Given the description of an element on the screen output the (x, y) to click on. 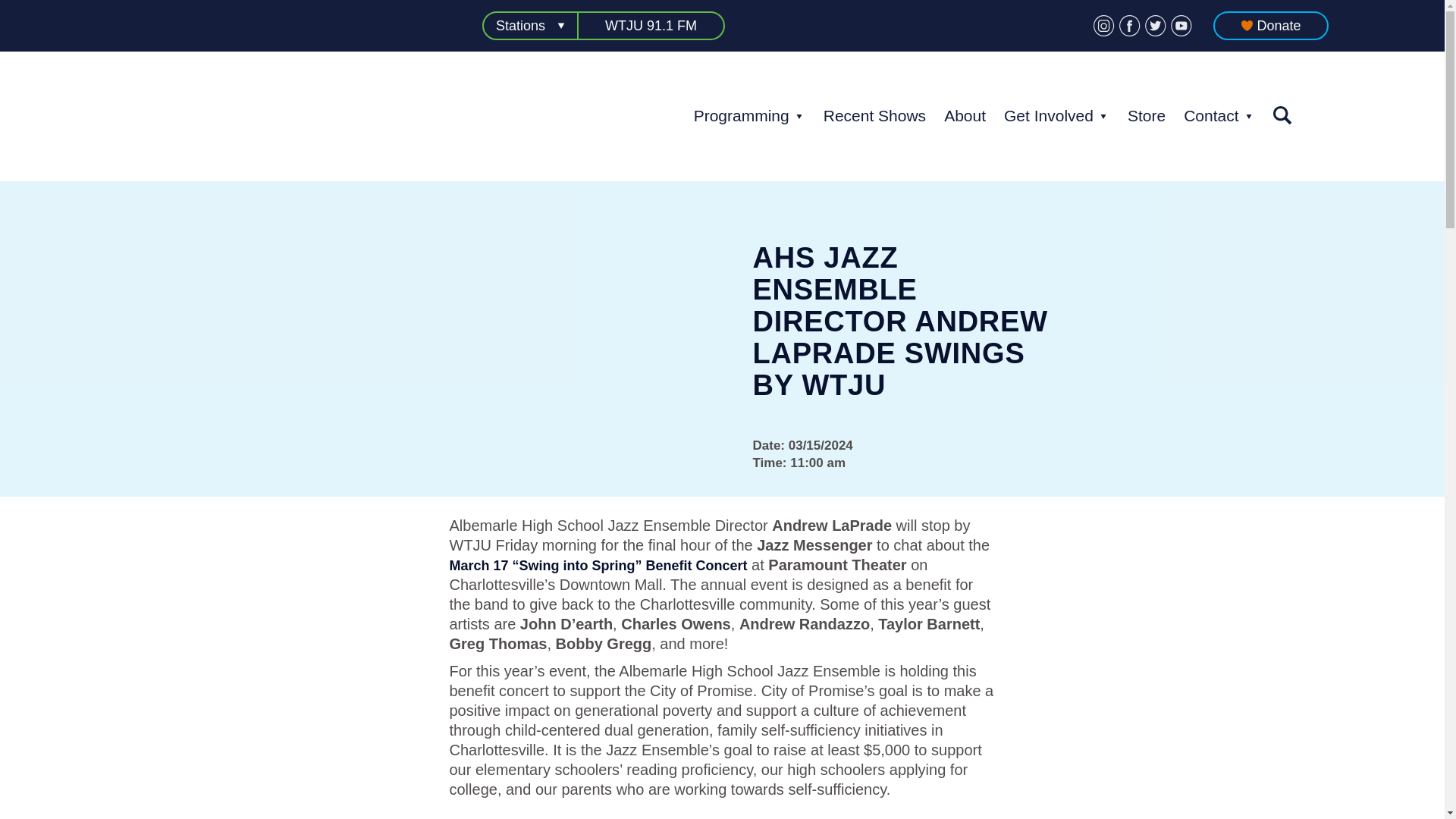
Contact (1211, 115)
Donate (1269, 25)
Recent Shows (875, 115)
Get Involved (1048, 115)
Store (1146, 115)
Programming (741, 115)
Stations (529, 25)
About (964, 115)
